Given the description of an element on the screen output the (x, y) to click on. 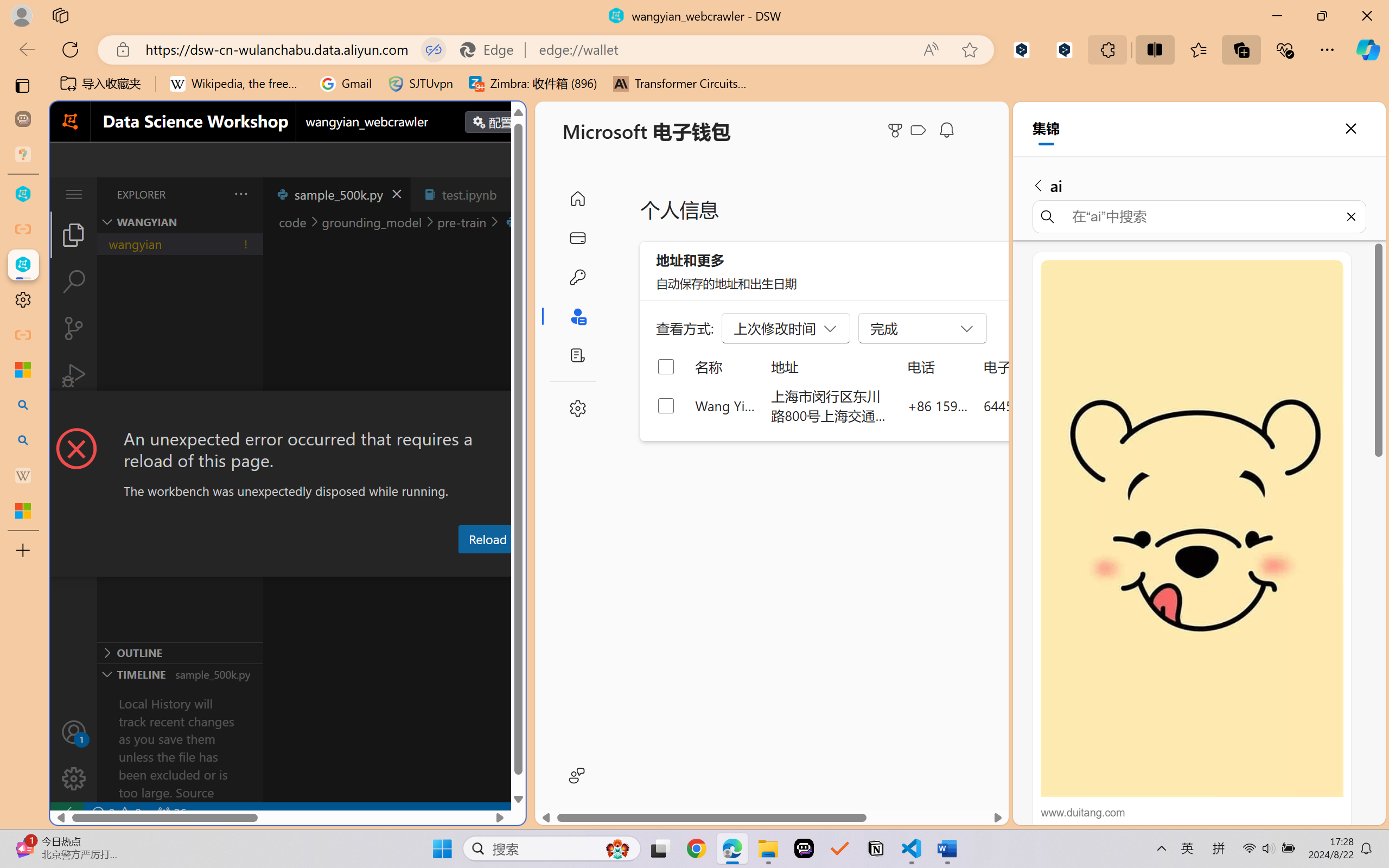
remote (66, 812)
Transformer Circuits Thread (680, 83)
Microsoft Rewards (896, 129)
